Given the description of an element on the screen output the (x, y) to click on. 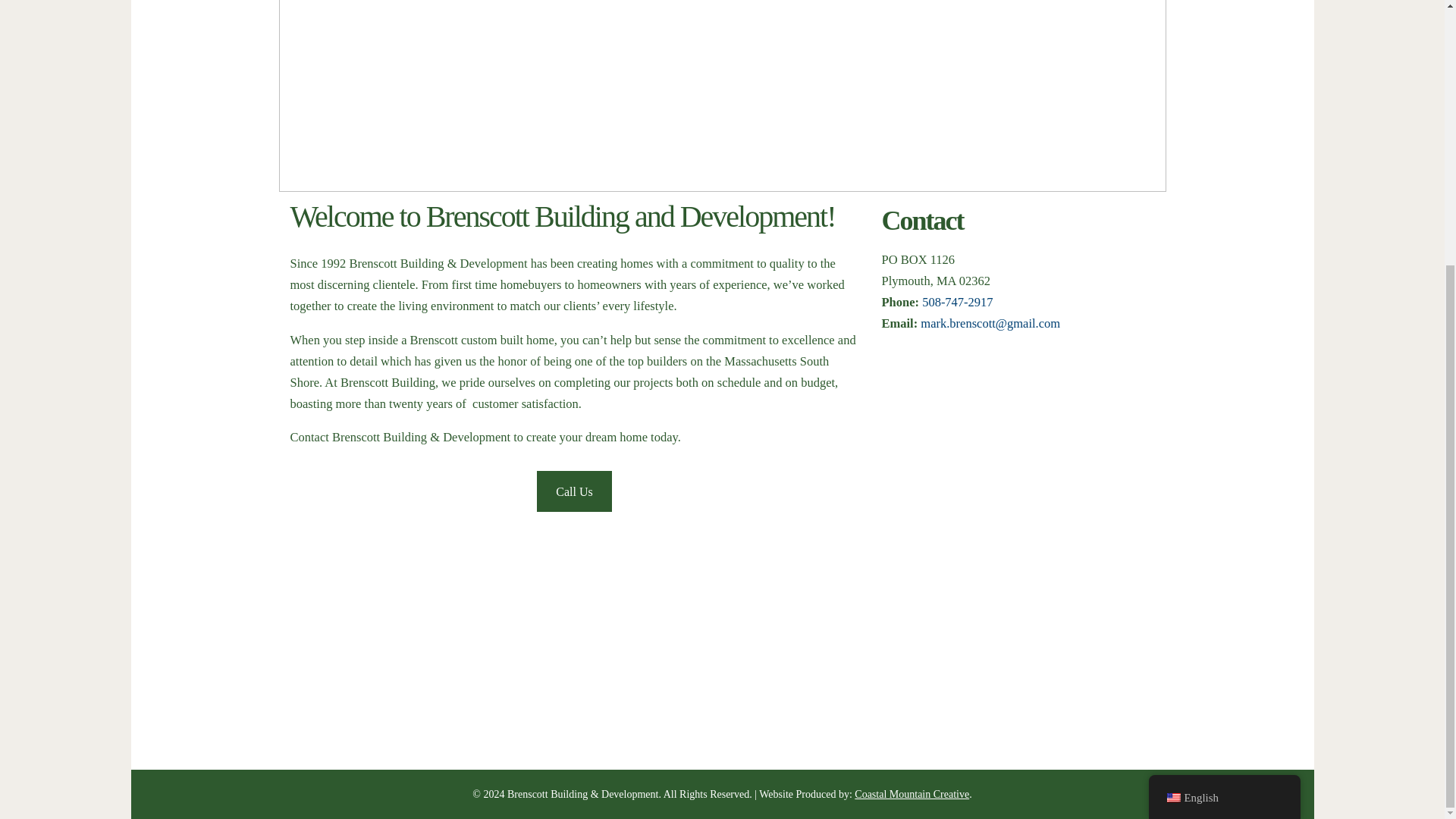
Coastal Mountain Creative (911, 794)
English (1224, 412)
Call Us (574, 490)
508-747-2917 (956, 301)
English (1172, 412)
